Given the description of an element on the screen output the (x, y) to click on. 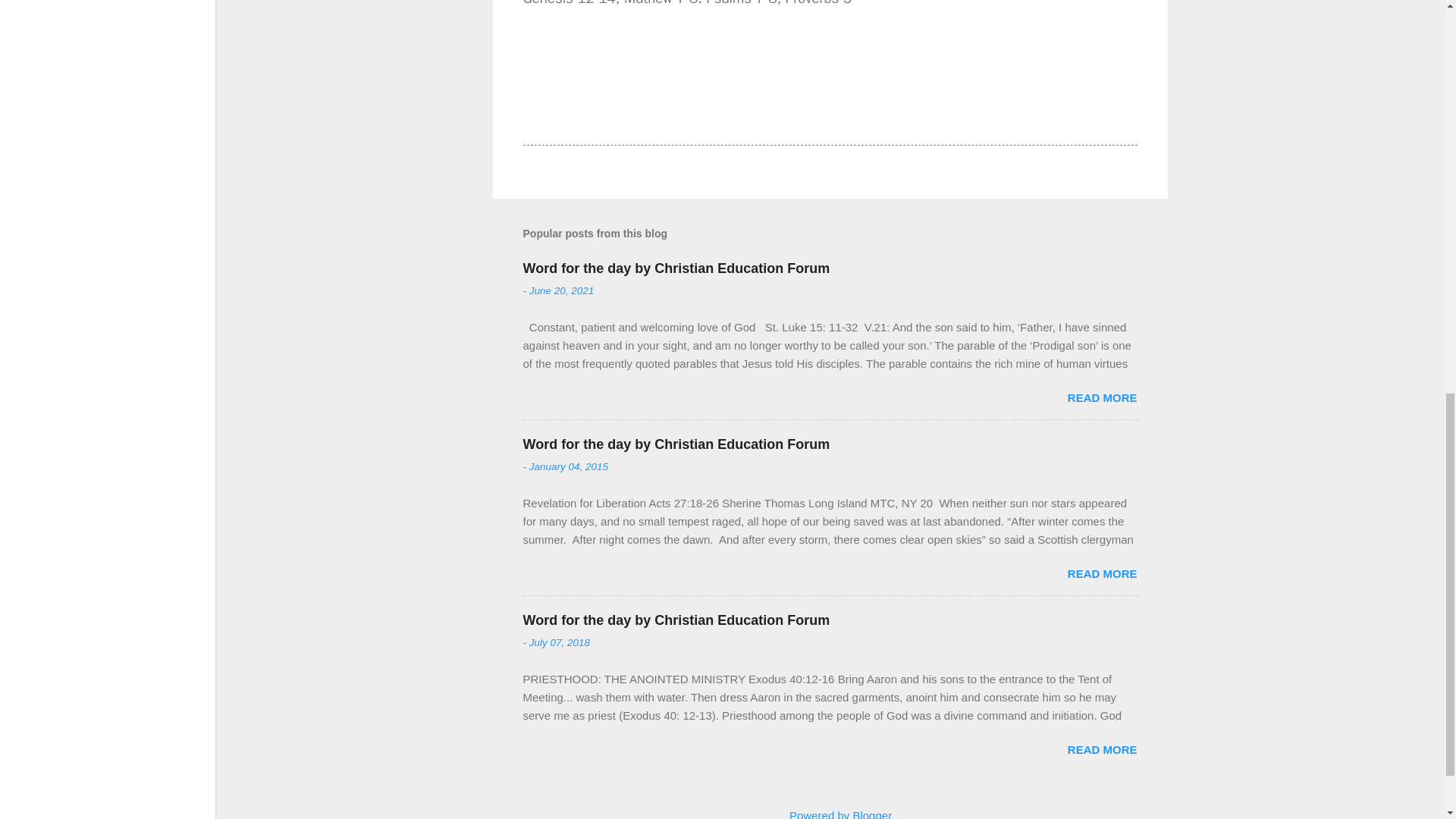
Word for the day by Christian Education Forum (675, 444)
Powered by Blogger (829, 814)
permanent link (561, 290)
READ MORE (1102, 573)
READ MORE (1102, 748)
Word for the day by Christian Education Forum (675, 268)
Word for the day by Christian Education Forum (675, 620)
READ MORE (1102, 397)
July 07, 2018 (559, 642)
June 20, 2021 (561, 290)
January 04, 2015 (568, 466)
